Given the description of an element on the screen output the (x, y) to click on. 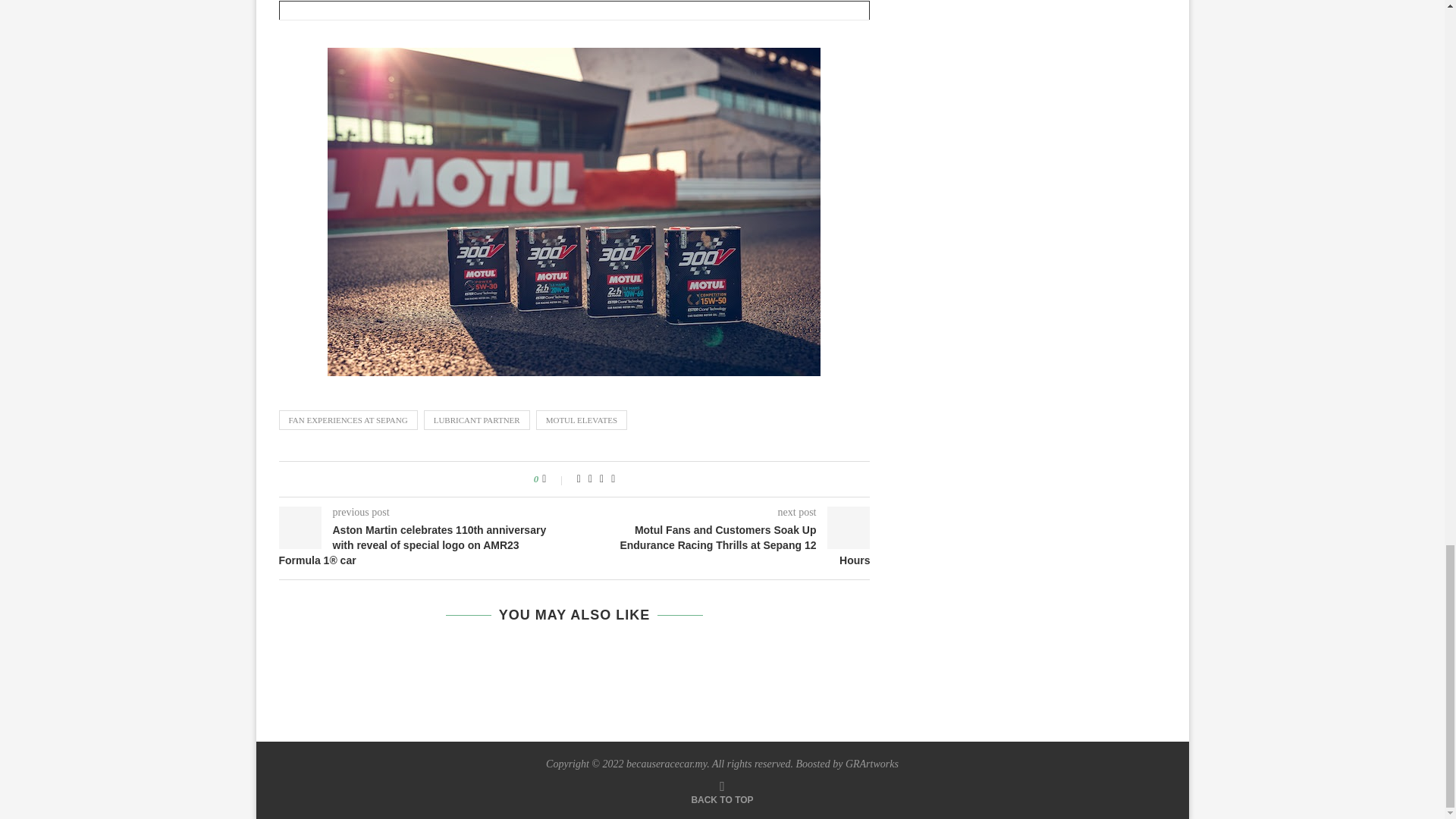
LUBRICANT PARTNER (476, 419)
MOTUL ELEVATES (581, 419)
Like (553, 479)
FAN EXPERIENCES AT SEPANG (348, 419)
